Given the description of an element on the screen output the (x, y) to click on. 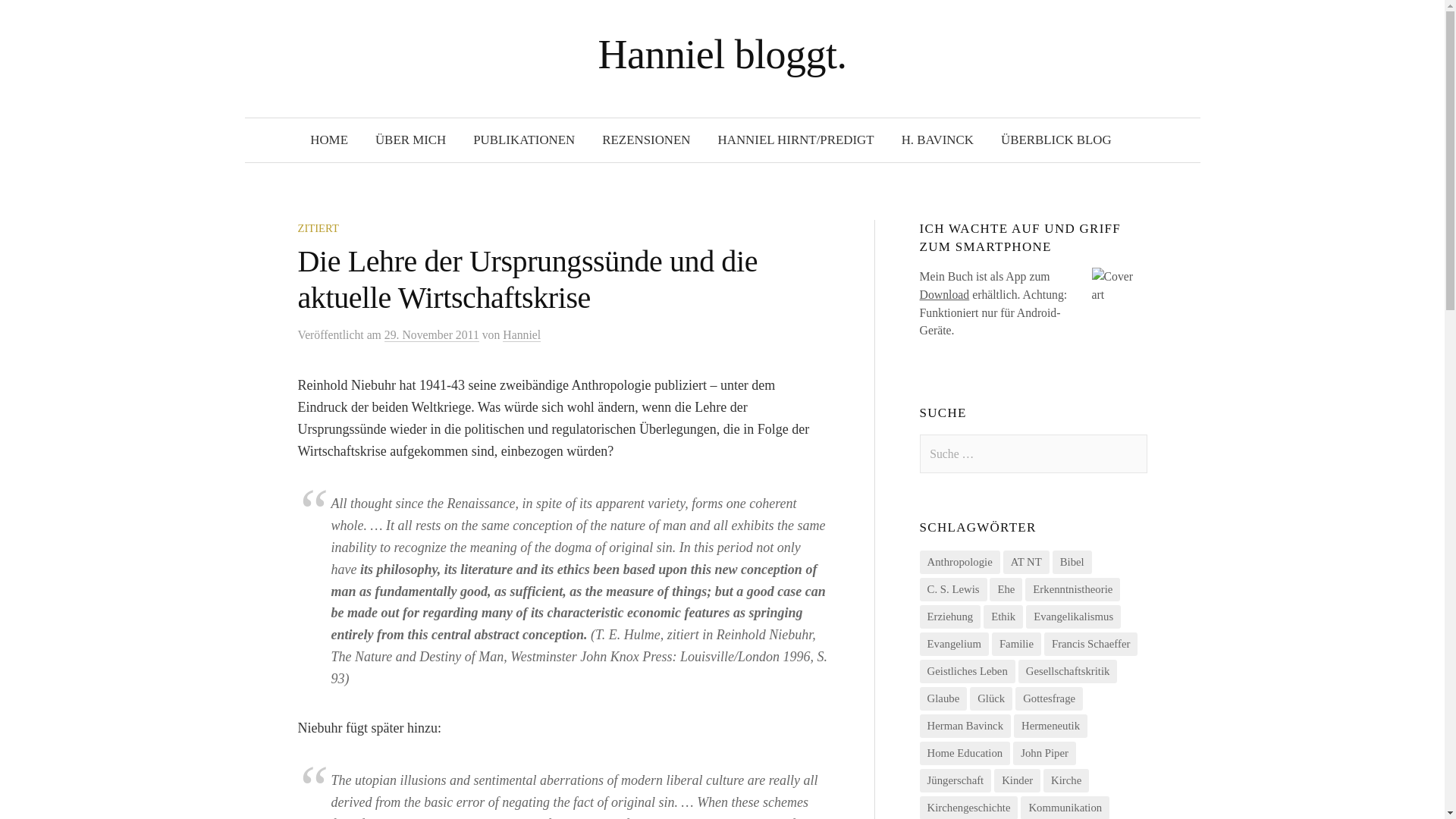
PUBLIKATIONEN (524, 139)
HOME (329, 139)
Ehe (1006, 589)
Evangelikalismus (1073, 616)
AT NT (1026, 562)
Suche (35, 18)
29. November 2011 (431, 335)
Evangelium (954, 644)
Ethik (1003, 616)
Suche (18, 18)
Francis Schaeffer (1090, 644)
Erziehung (950, 616)
Bibel (1072, 562)
Familie (1016, 644)
